Given the description of an element on the screen output the (x, y) to click on. 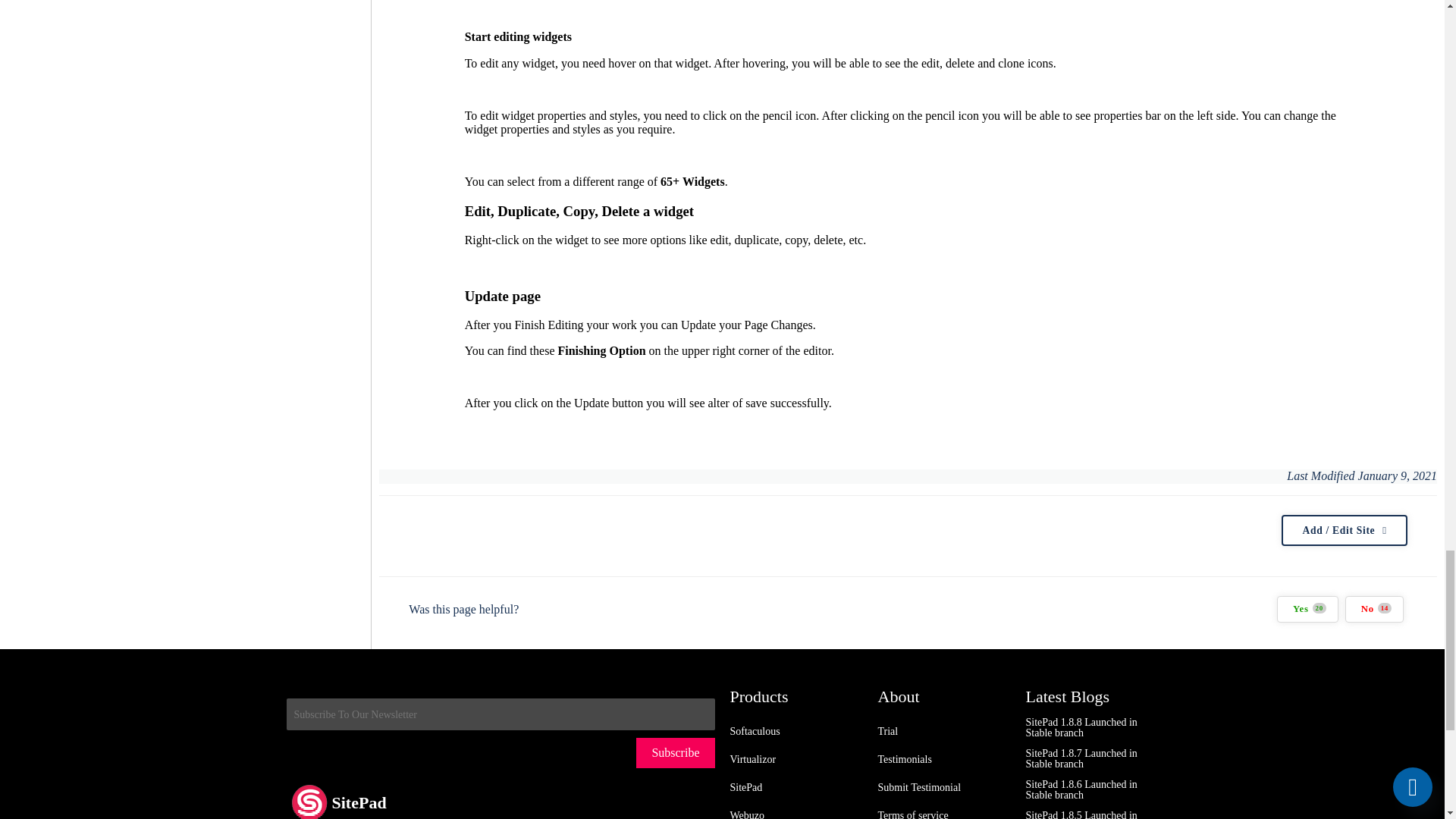
20 person found this useful (1307, 609)
logo (308, 799)
14 persons found this not useful (1374, 609)
